Given the description of an element on the screen output the (x, y) to click on. 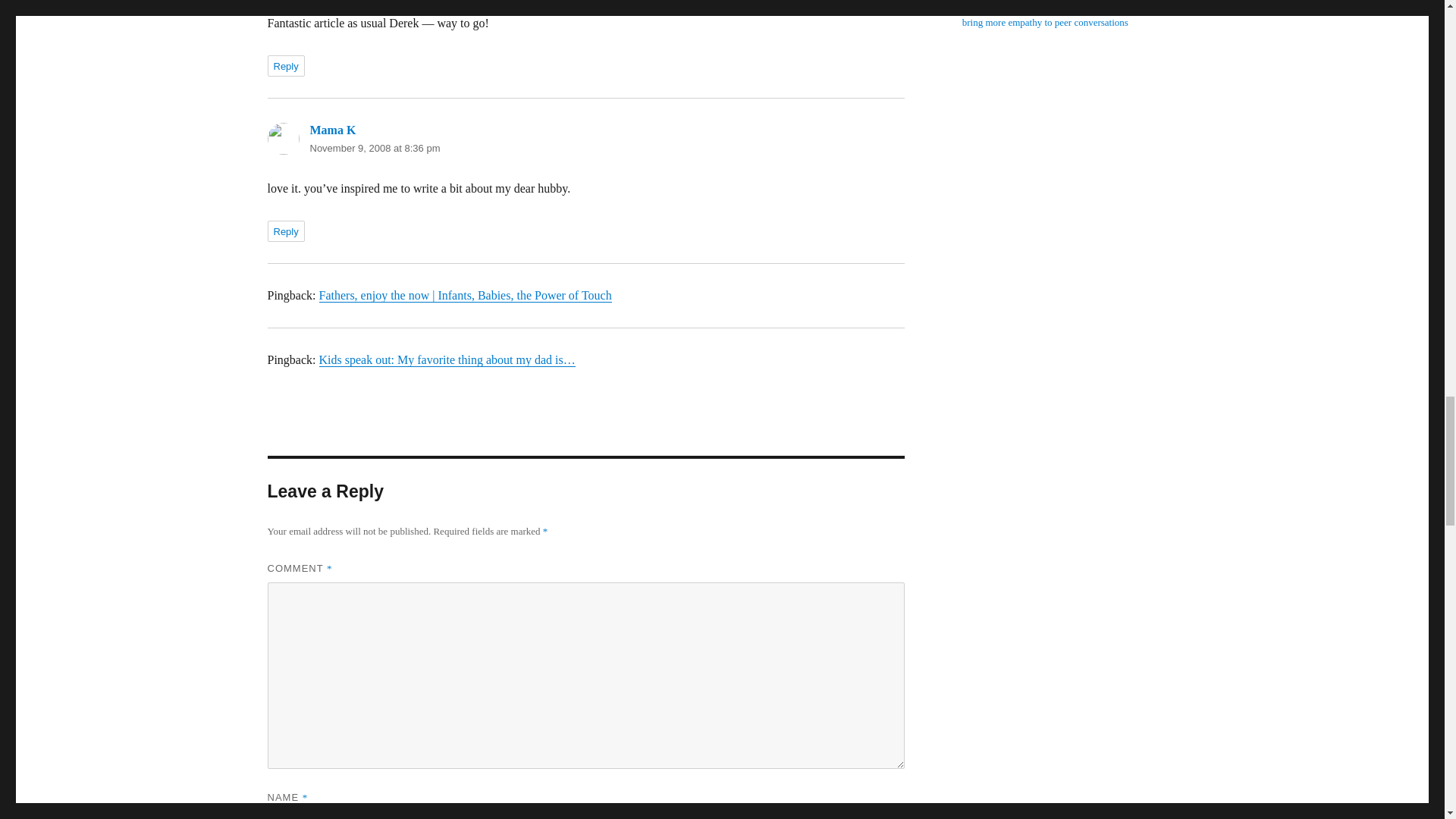
Reply (285, 230)
Mama K (331, 129)
November 9, 2008 at 8:36 pm (373, 147)
Reply (285, 65)
